Given the description of an element on the screen output the (x, y) to click on. 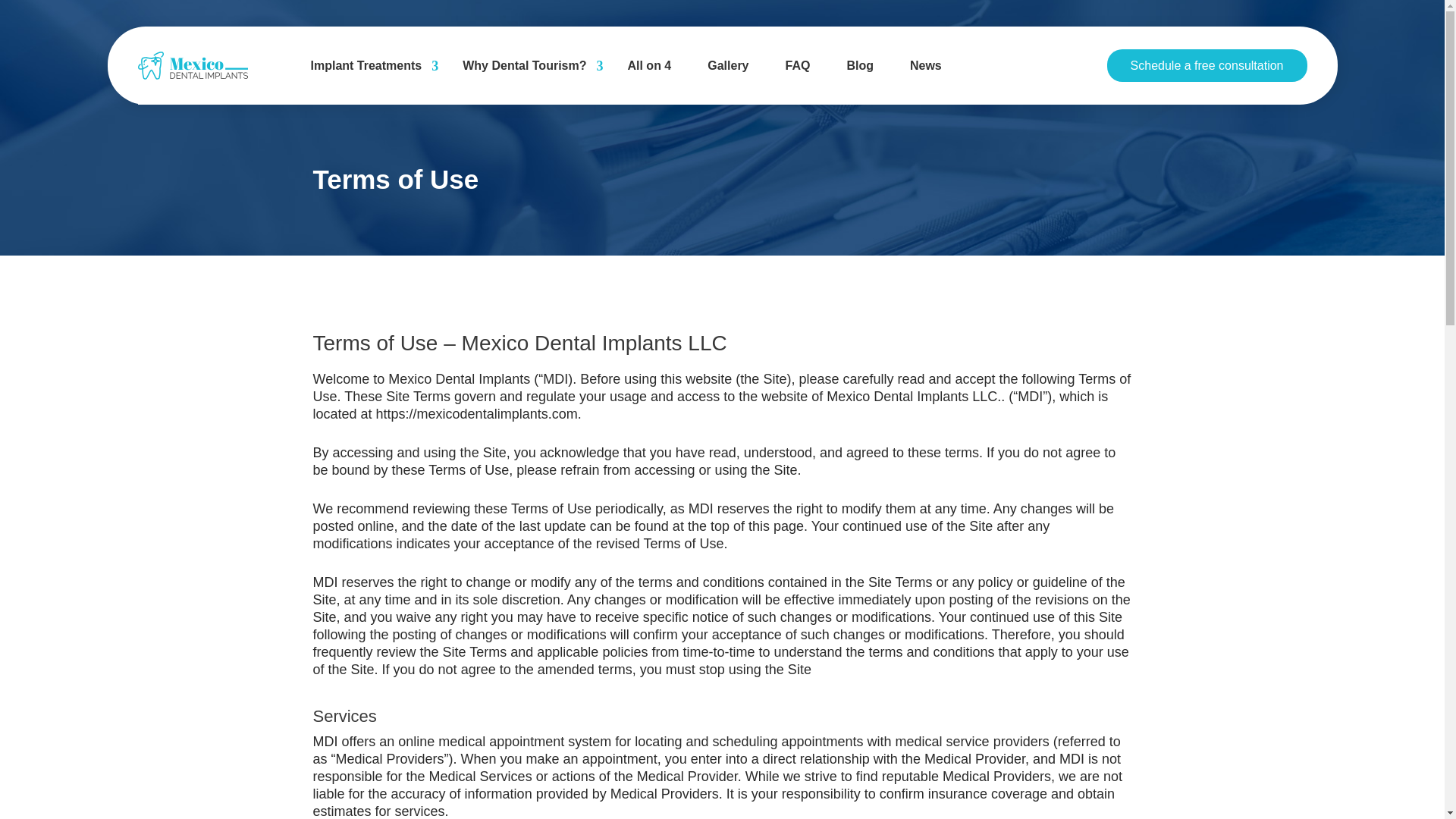
Why Dental Tourism? (526, 65)
Implant Treatments (368, 65)
All on 4 (648, 65)
Gallery (727, 65)
